Given the description of an element on the screen output the (x, y) to click on. 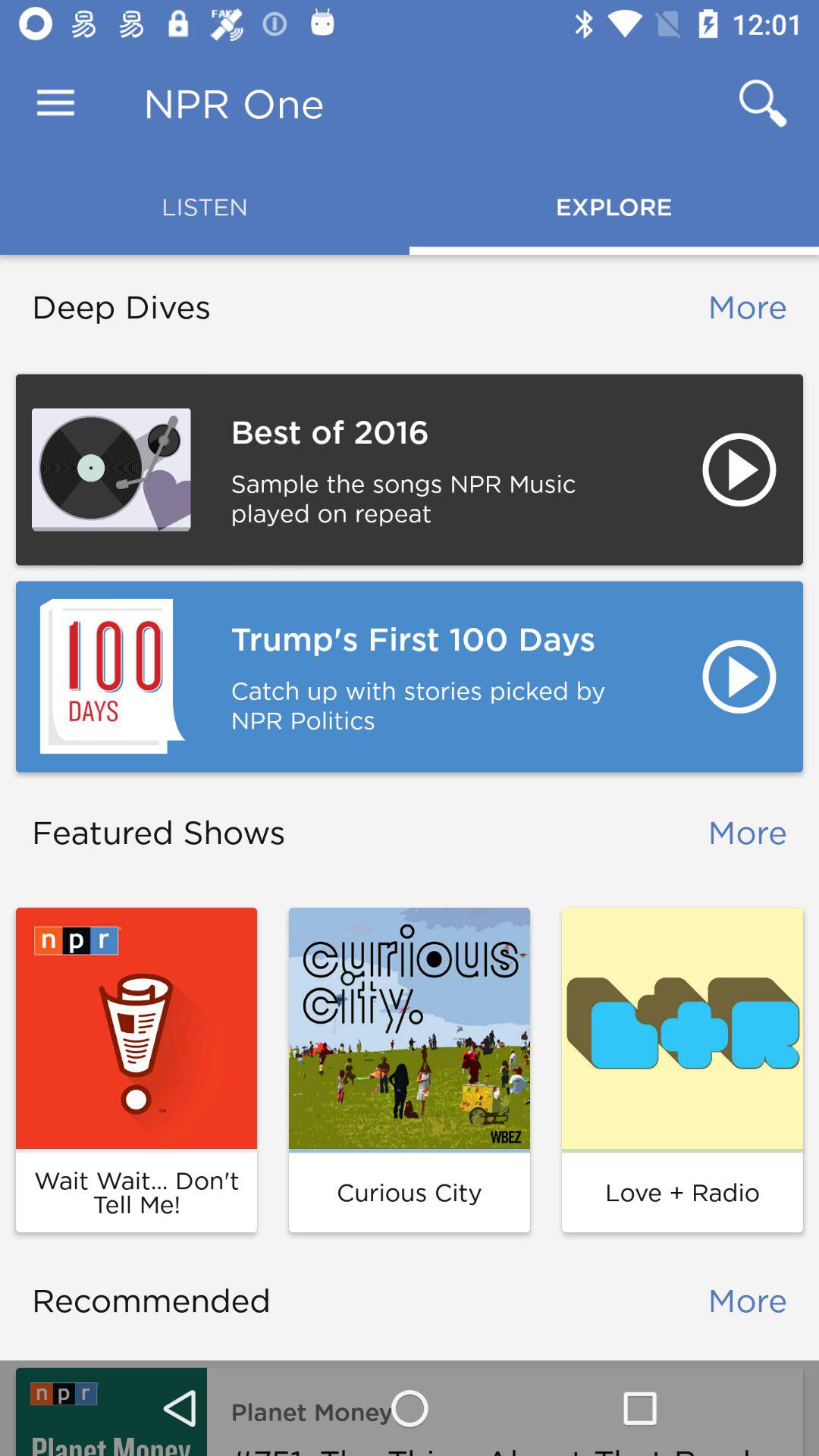
select item below the recommended item (111, 1411)
